Given the description of an element on the screen output the (x, y) to click on. 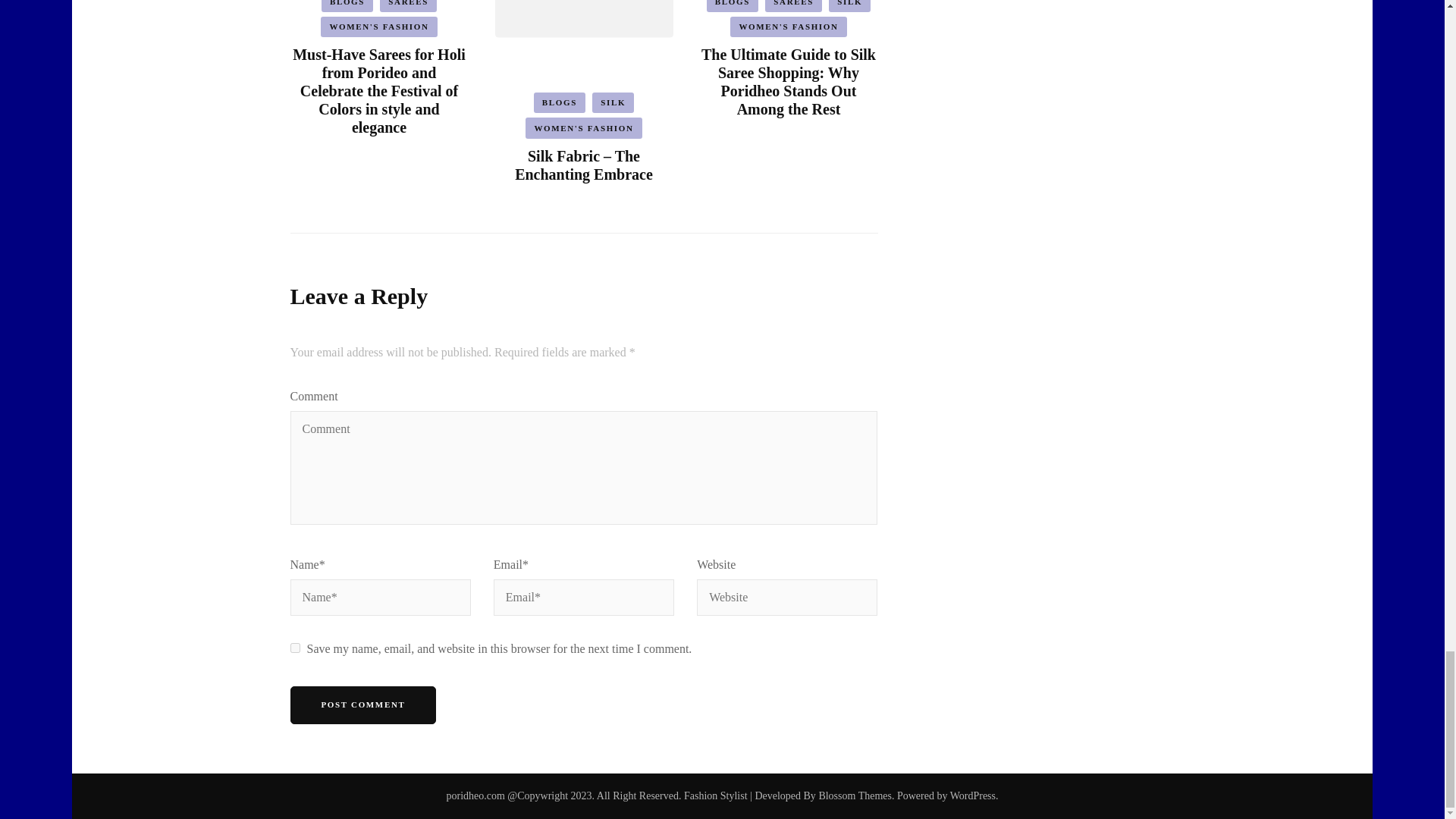
yes (294, 647)
Post Comment (362, 704)
